Given the description of an element on the screen output the (x, y) to click on. 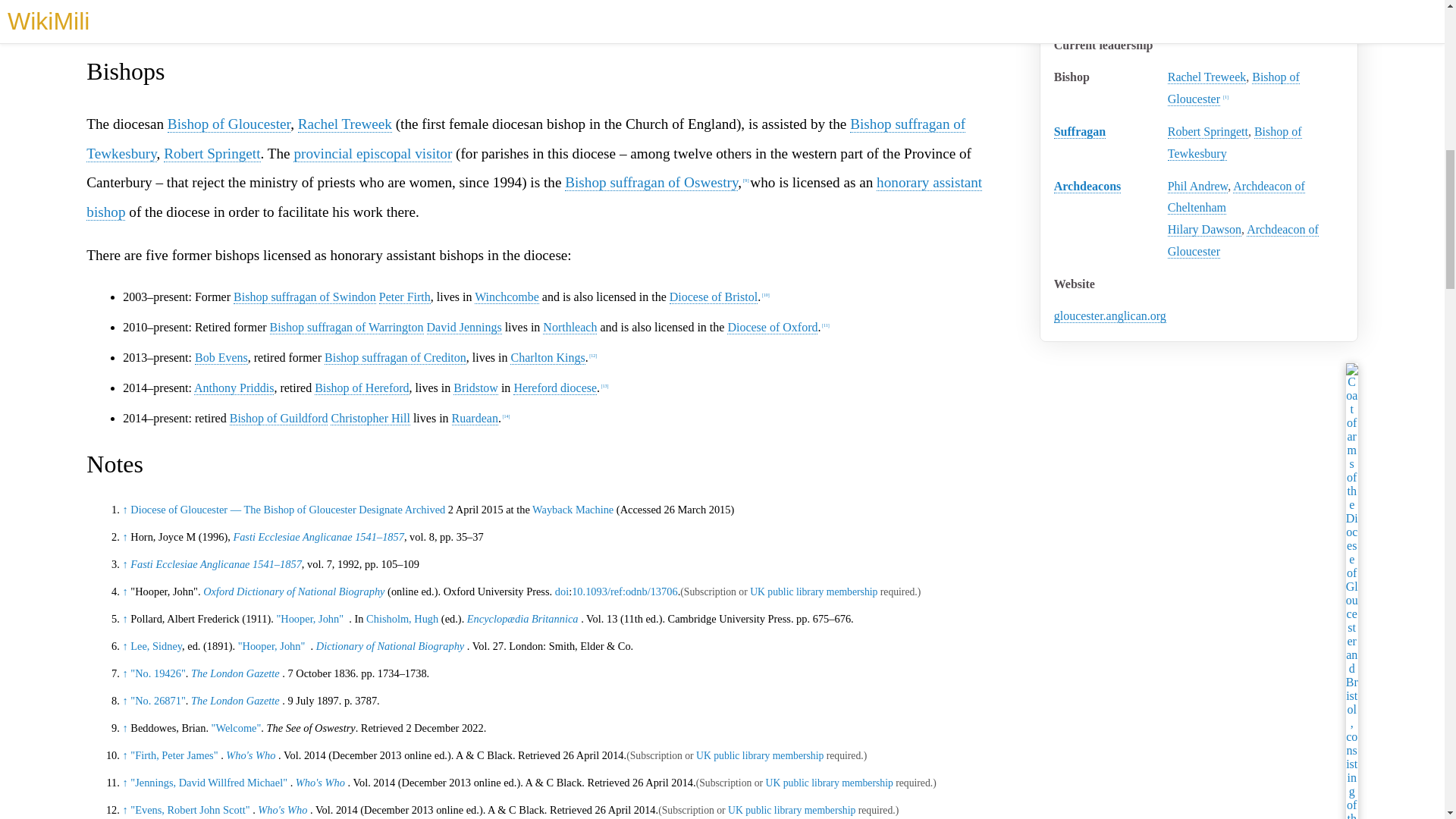
Suffragan (1079, 131)
English (1186, 12)
Rachel Treweek (1206, 77)
Suffragan bishop (1079, 131)
gloucester.anglican.org (1110, 315)
Archdeacon of Cheltenham (1235, 196)
English language (1186, 12)
Bishop of Gloucester (1233, 88)
Archdeacon of Gloucester (1243, 240)
Robert Springett (1207, 131)
Archdeacons (1087, 185)
Hilary Dawson (1204, 229)
Archdeacon (1087, 185)
Hilary Dawson (1204, 229)
Bishop of Tewkesbury (1234, 142)
